Given the description of an element on the screen output the (x, y) to click on. 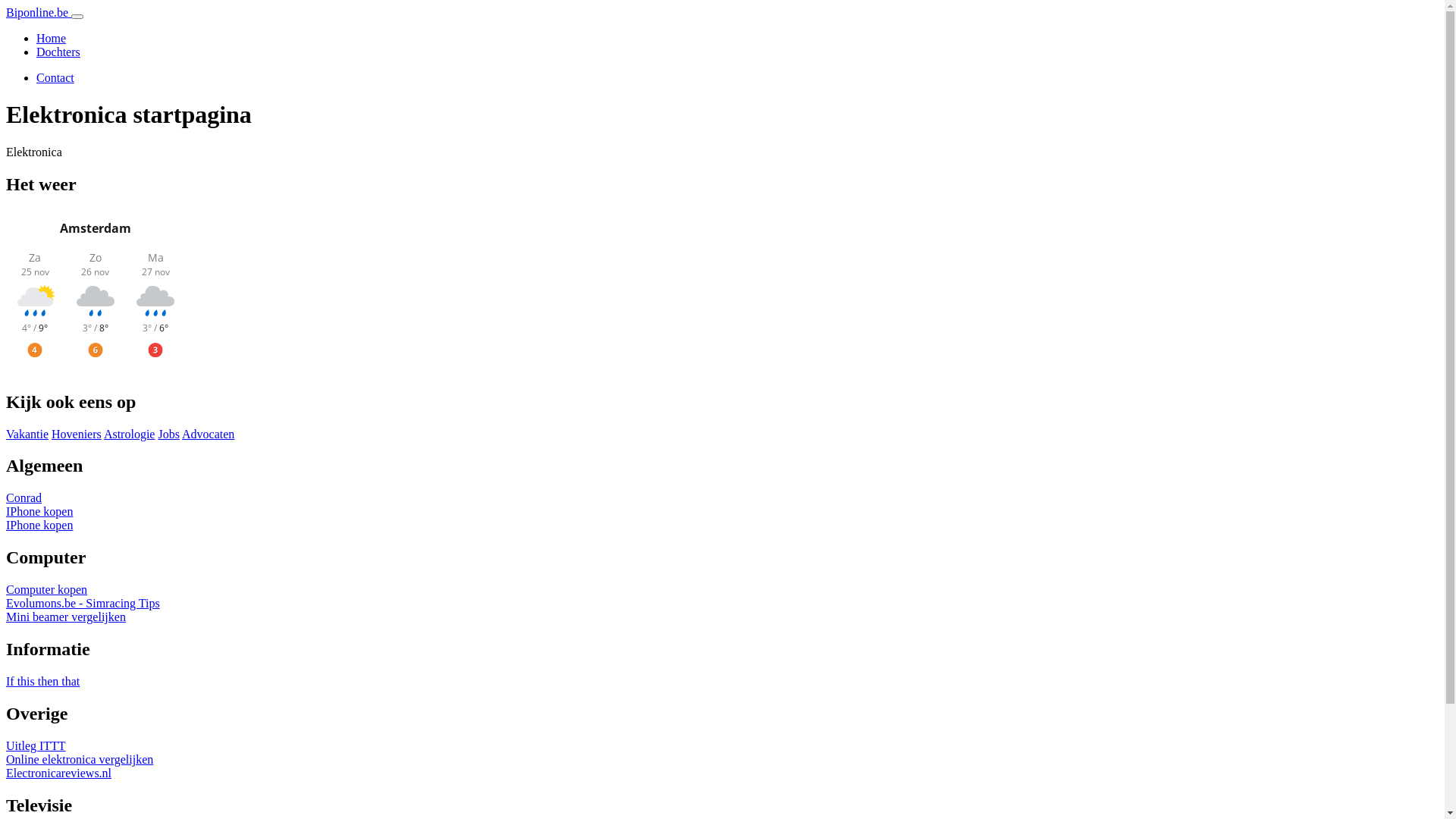
Vakantie Element type: text (27, 433)
Computer kopen Element type: text (46, 589)
Hoveniers Element type: text (76, 433)
Biponline.be Element type: text (38, 12)
Jobs Element type: text (167, 433)
If this then that Element type: text (42, 680)
Uitleg ITTT Element type: text (35, 745)
Advocaten Element type: text (208, 433)
Mini beamer vergelijken Element type: text (65, 616)
Contact Element type: text (55, 77)
Dochters Element type: text (58, 51)
Online elektronica vergelijken Element type: text (79, 759)
Astrologie Element type: text (129, 433)
Electronicareviews.nl Element type: text (58, 772)
IPhone kopen Element type: text (39, 524)
Home Element type: text (50, 37)
IPhone kopen Element type: text (39, 511)
Conrad Element type: text (23, 497)
Evolumons.be - Simracing Tips Element type: text (83, 602)
